Given the description of an element on the screen output the (x, y) to click on. 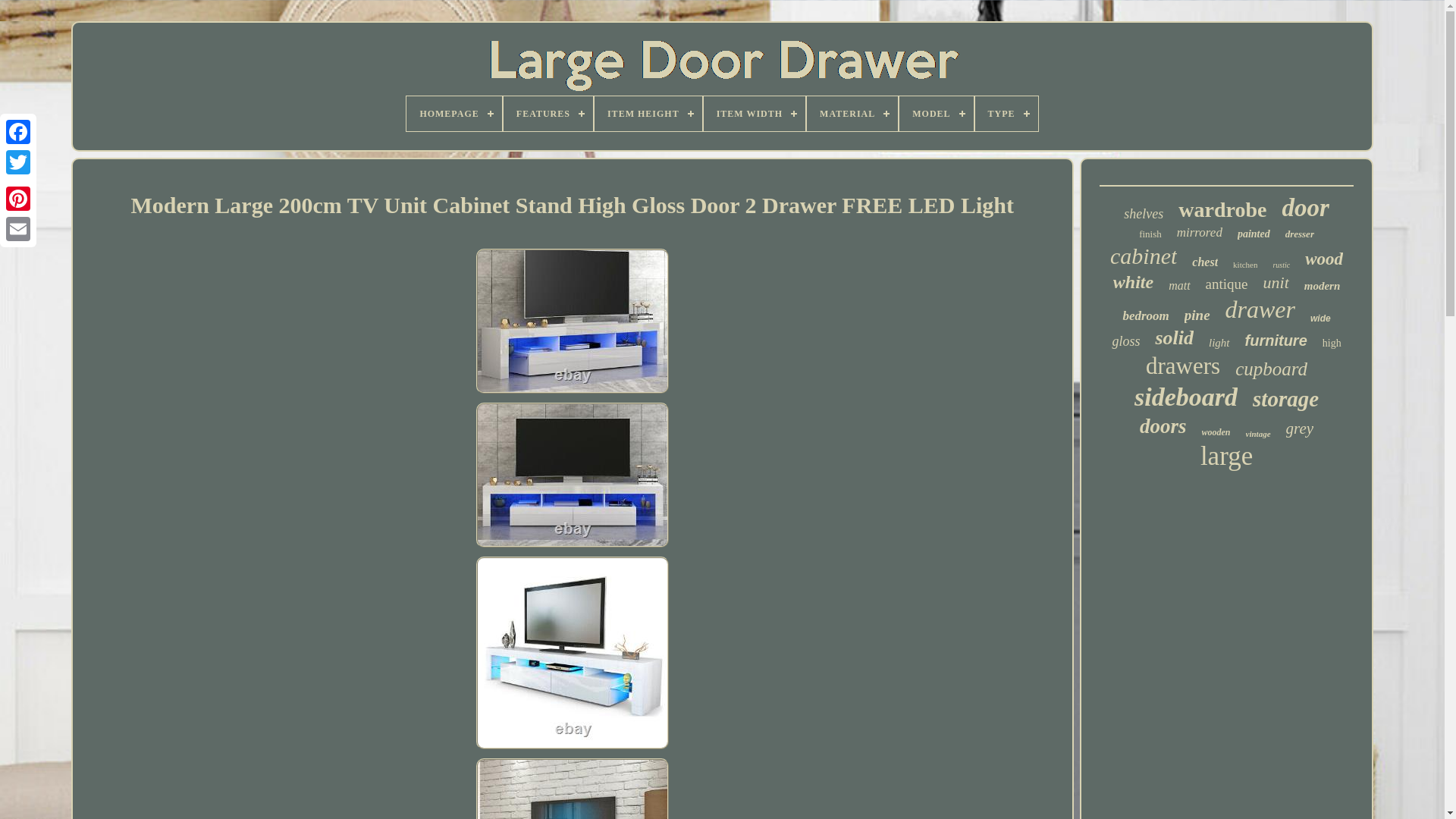
FEATURES (547, 113)
HOMEPAGE (453, 113)
ITEM HEIGHT (647, 113)
